Given the description of an element on the screen output the (x, y) to click on. 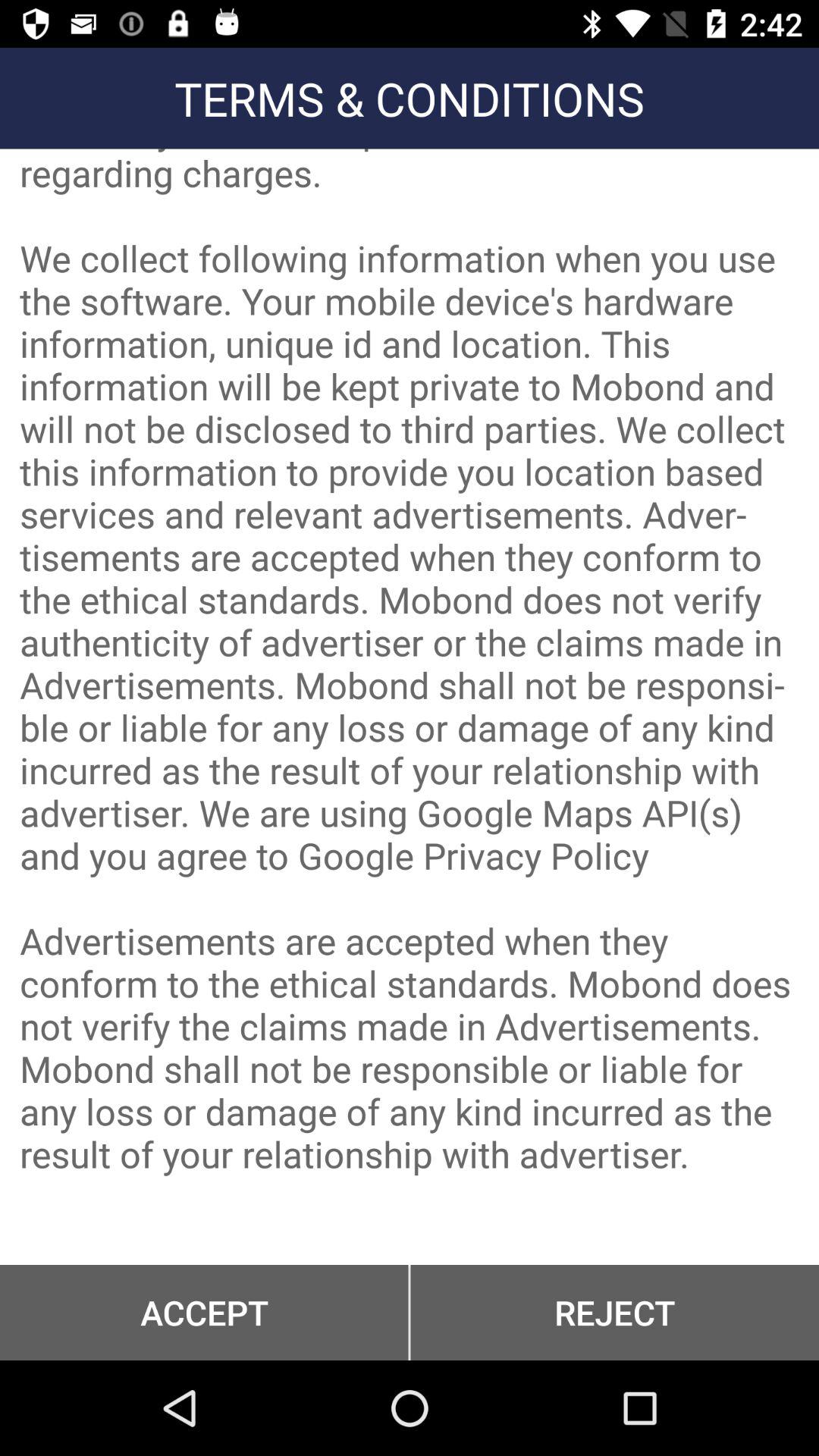
jump to the reject icon (614, 1312)
